Given the description of an element on the screen output the (x, y) to click on. 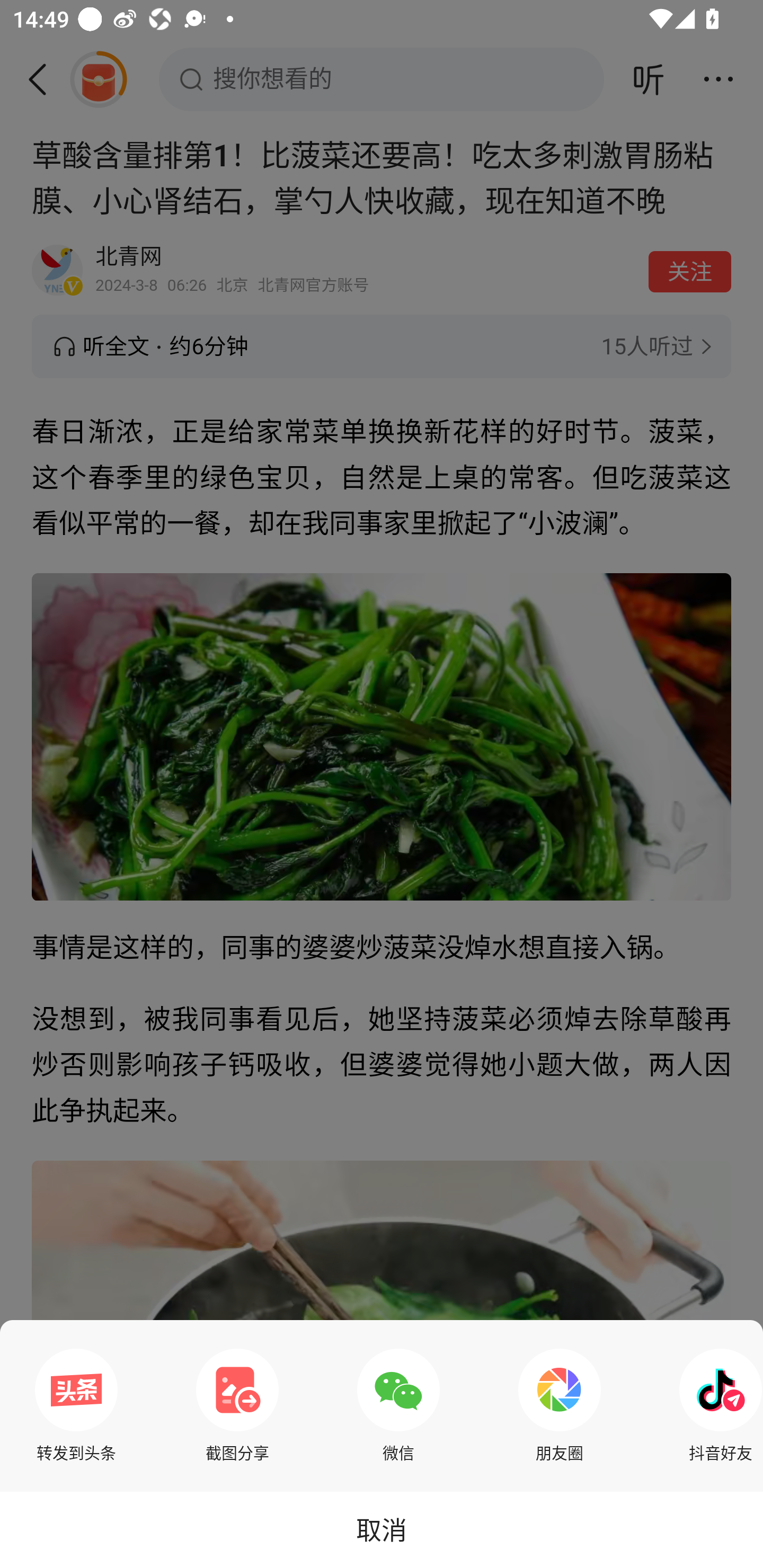
转发到头条 (76, 1405)
截图分享 (237, 1405)
微信 (398, 1405)
朋友圈 (559, 1405)
抖音好友 (716, 1405)
取消 (381, 1529)
